Given the description of an element on the screen output the (x, y) to click on. 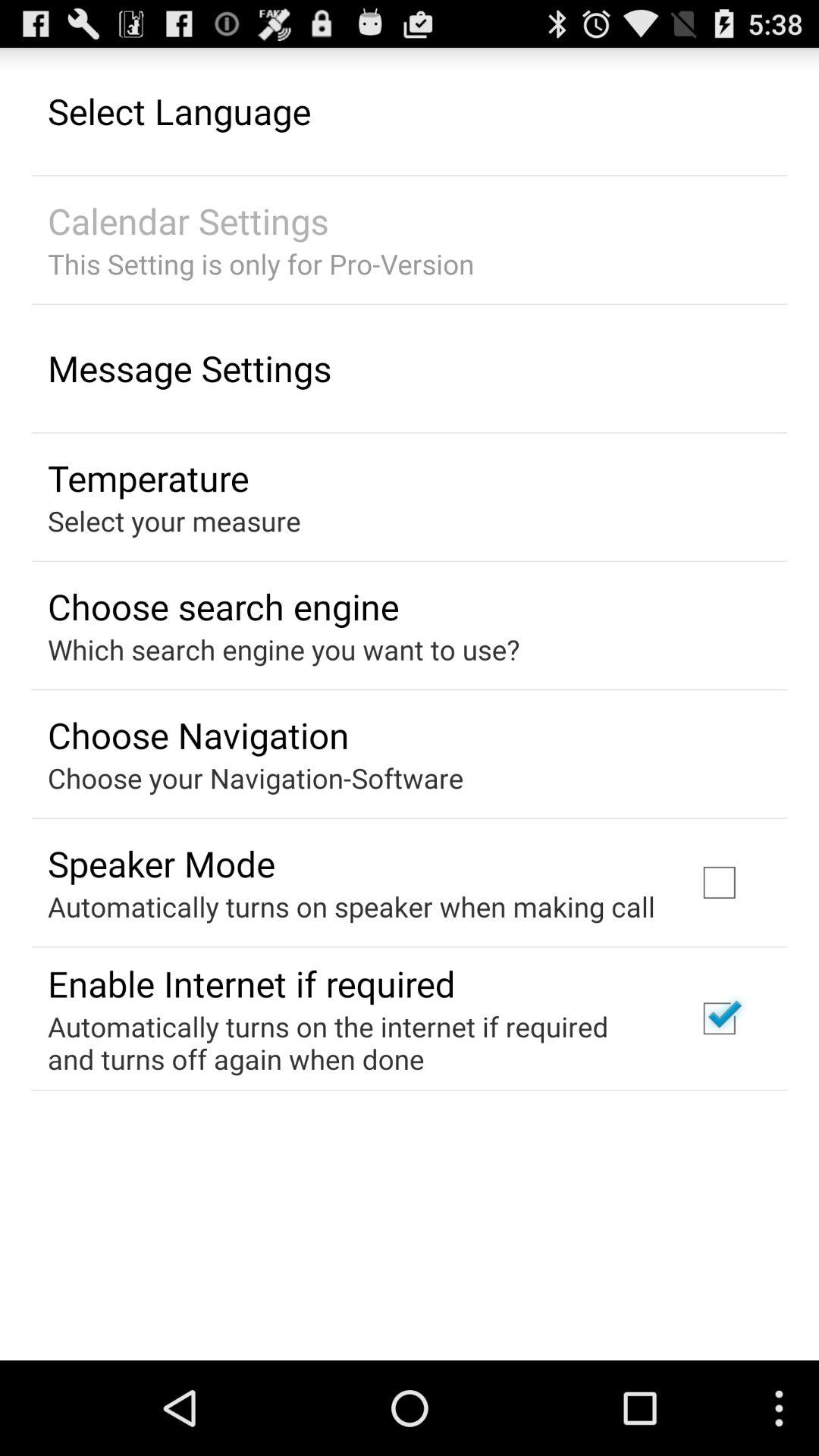
launch icon below the this setting is (189, 368)
